Given the description of an element on the screen output the (x, y) to click on. 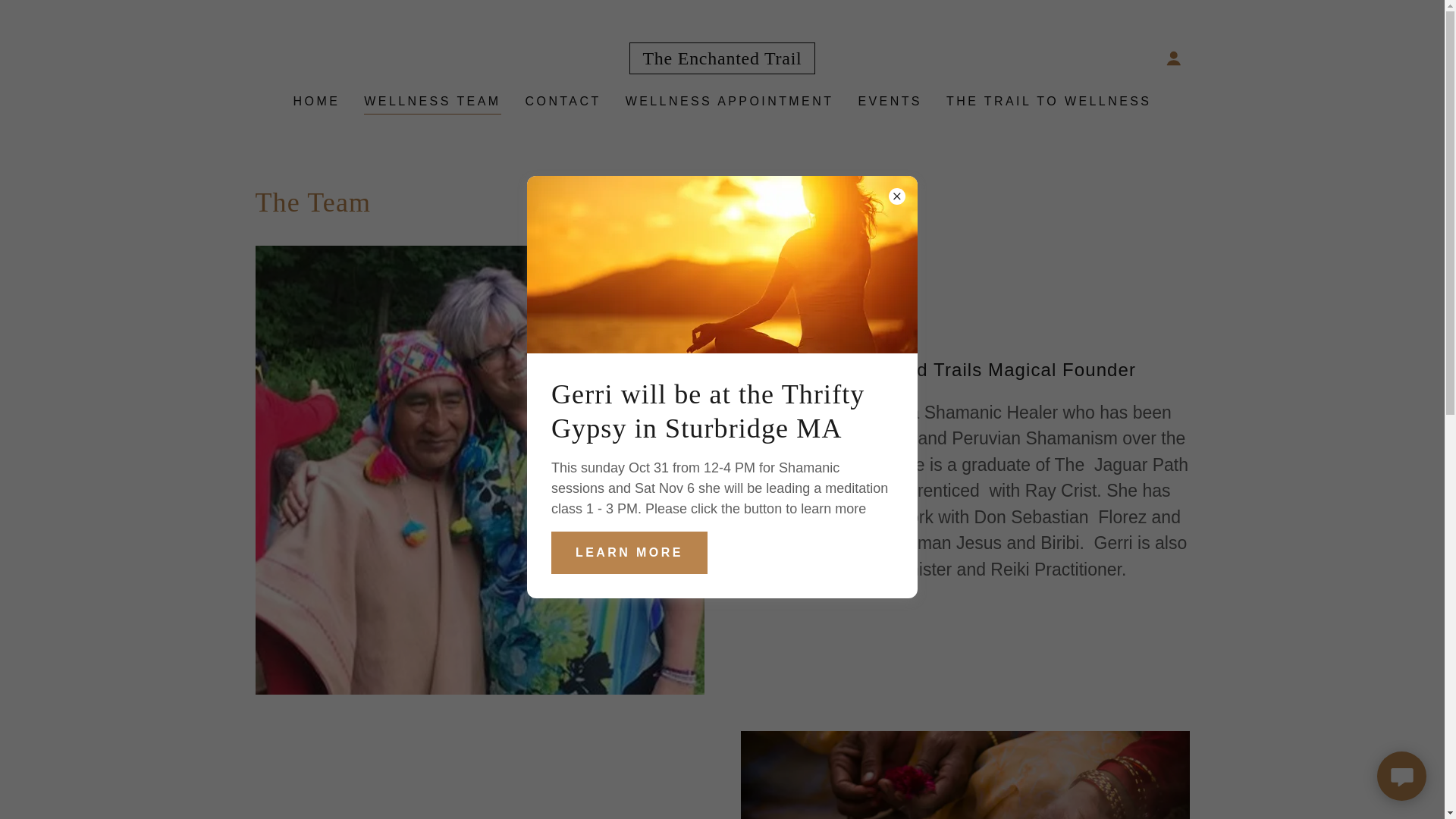
The Enchanted Trail (720, 59)
EVENTS (889, 101)
The Enchanted Trail (720, 59)
WELLNESS APPOINTMENT (729, 101)
WELLNESS TEAM (432, 103)
CONTACT (563, 101)
THE TRAIL TO WELLNESS (1049, 101)
HOME (316, 101)
